Given the description of an element on the screen output the (x, y) to click on. 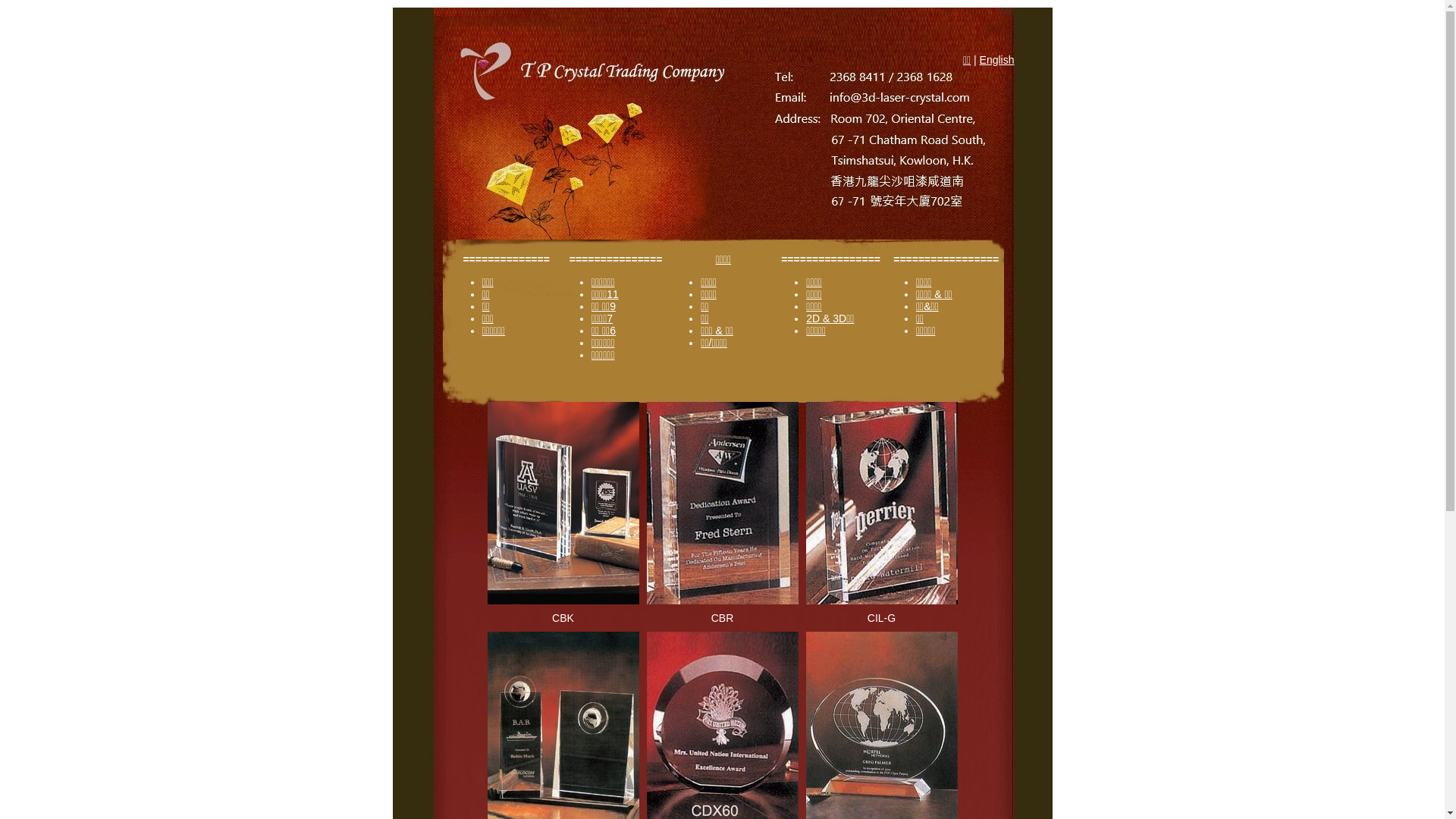
English Element type: text (996, 59)
